Given the description of an element on the screen output the (x, y) to click on. 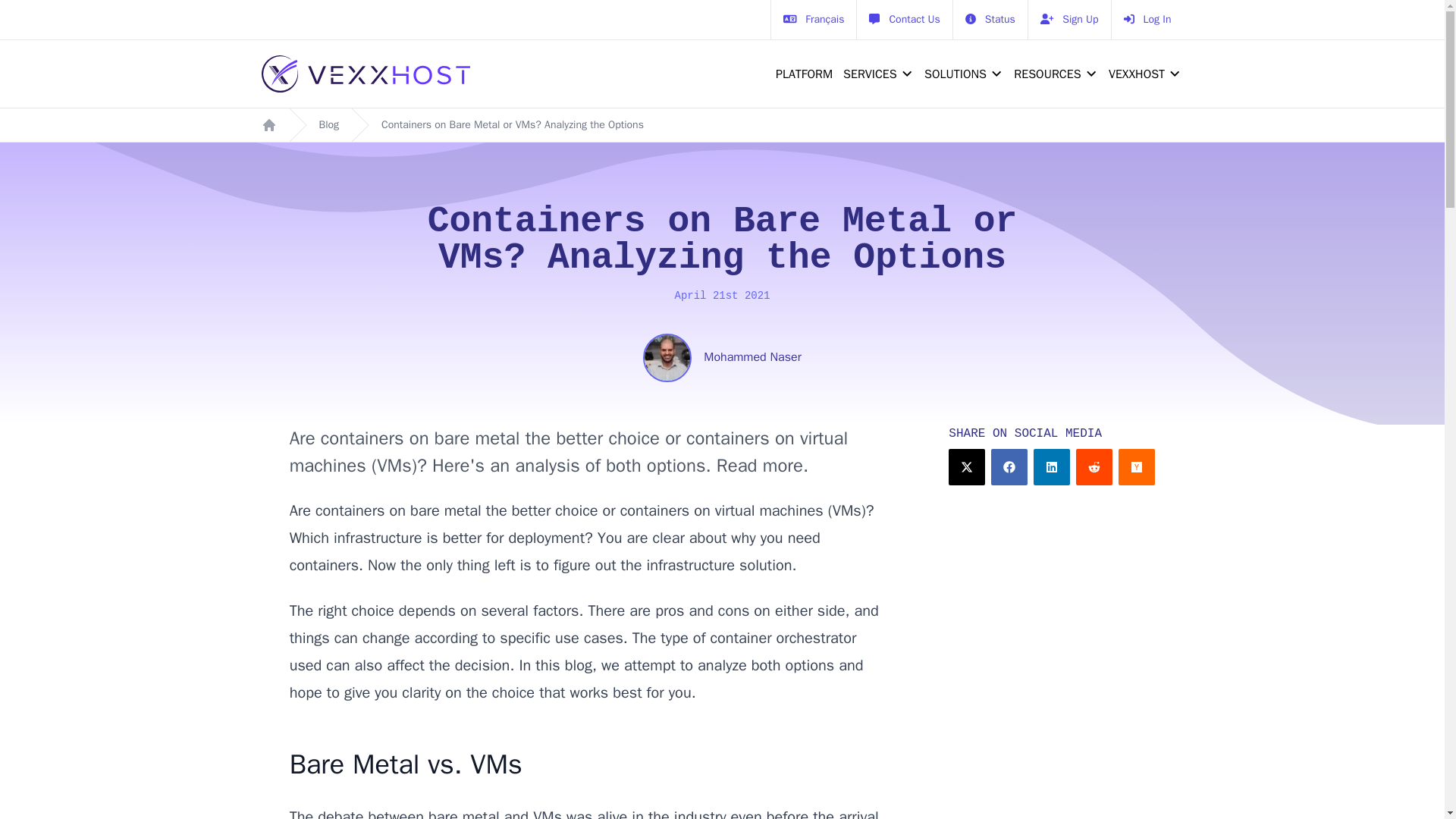
Log In (1146, 19)
RESOURCES (1051, 74)
Contact Us (904, 19)
PLATFORM (800, 74)
Containers on Bare Metal or VMs? Analyzing the Options (512, 124)
VEXXHOST (1141, 74)
RESOURCES (1042, 74)
VEXXHOST (1132, 74)
SERVICES (874, 74)
SOLUTIONS (959, 74)
